Given the description of an element on the screen output the (x, y) to click on. 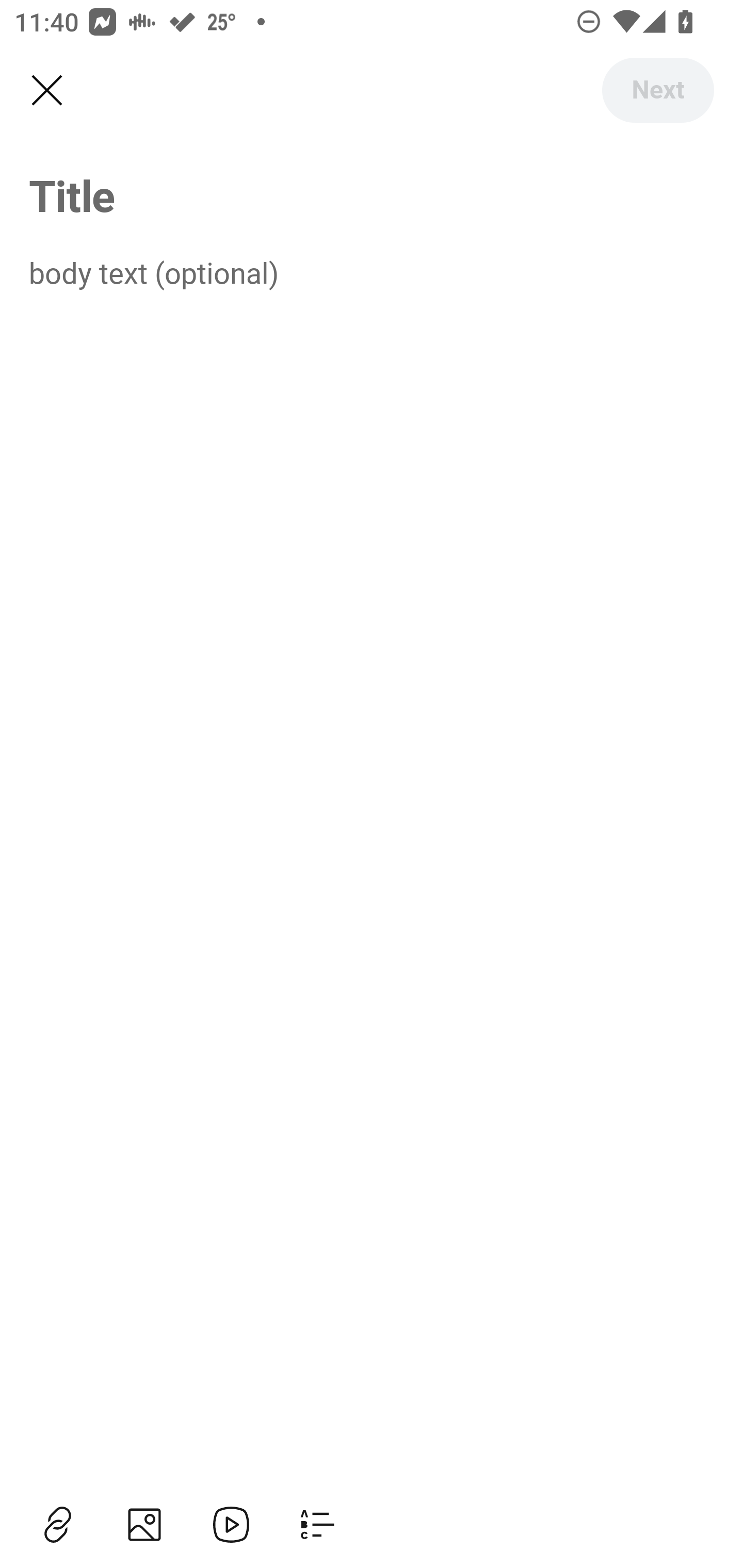
Close (46, 90)
Next (657, 90)
Post title (371, 195)
body text (optional) (371, 271)
